Given the description of an element on the screen output the (x, y) to click on. 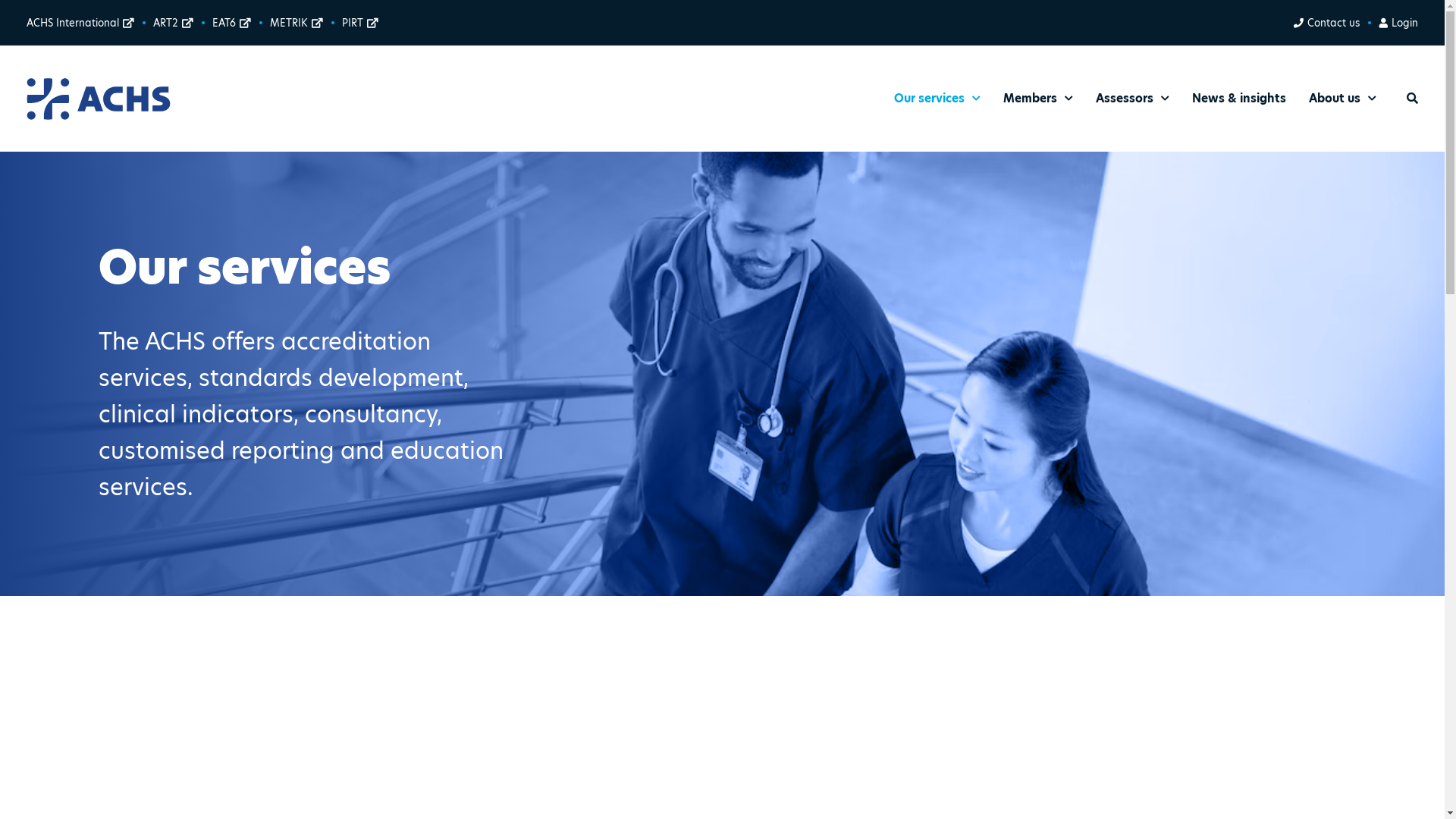
METRIK Element type: text (296, 23)
PIRT Element type: text (360, 23)
Contact us Element type: text (1325, 23)
ACHS International Element type: text (80, 23)
News & insights Element type: text (1239, 98)
ART2 Element type: text (173, 23)
Login Element type: text (1398, 23)
EAT6 Element type: text (231, 23)
